Given the description of an element on the screen output the (x, y) to click on. 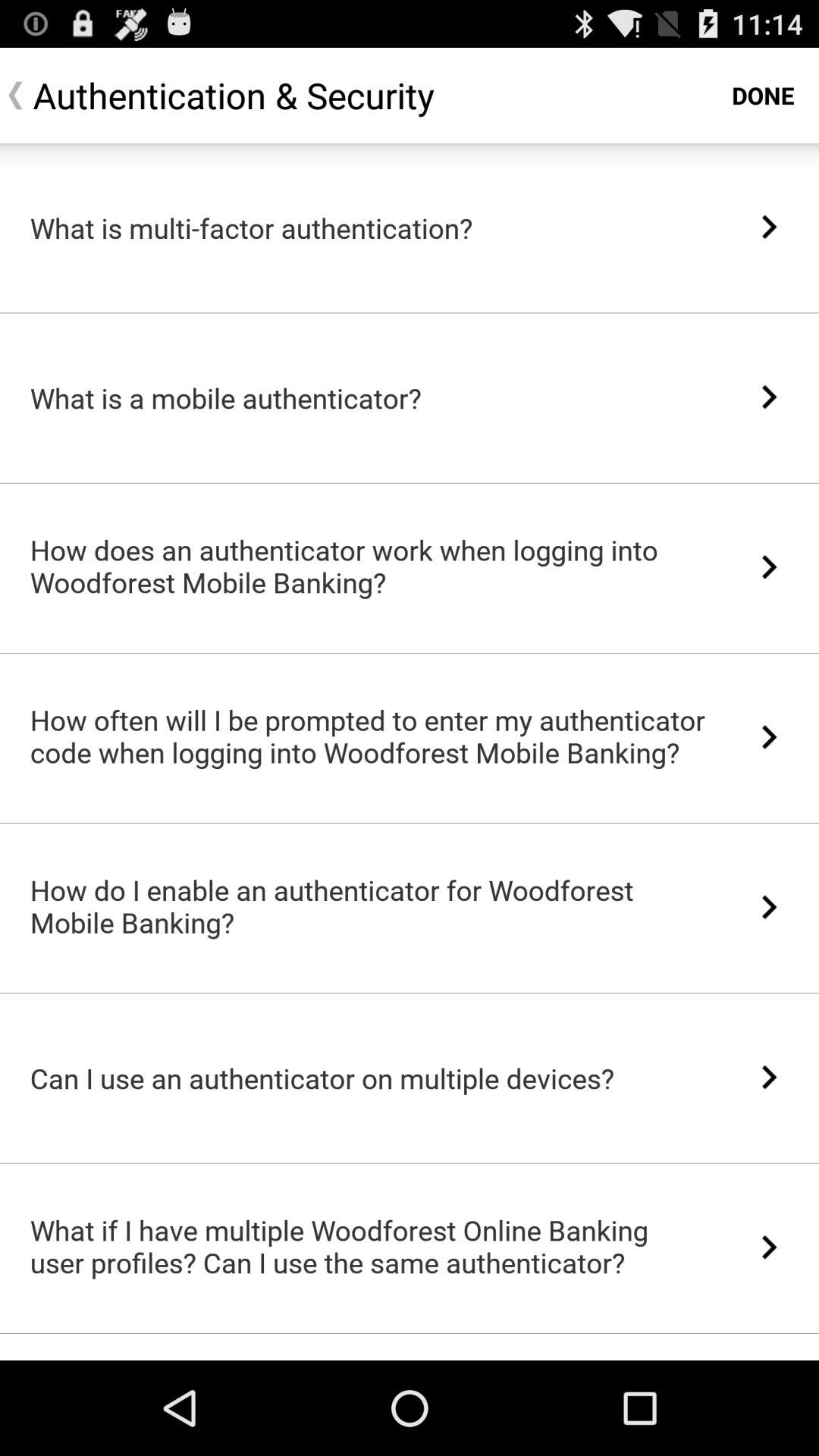
launch the icon below the how often will item (409, 822)
